Given the description of an element on the screen output the (x, y) to click on. 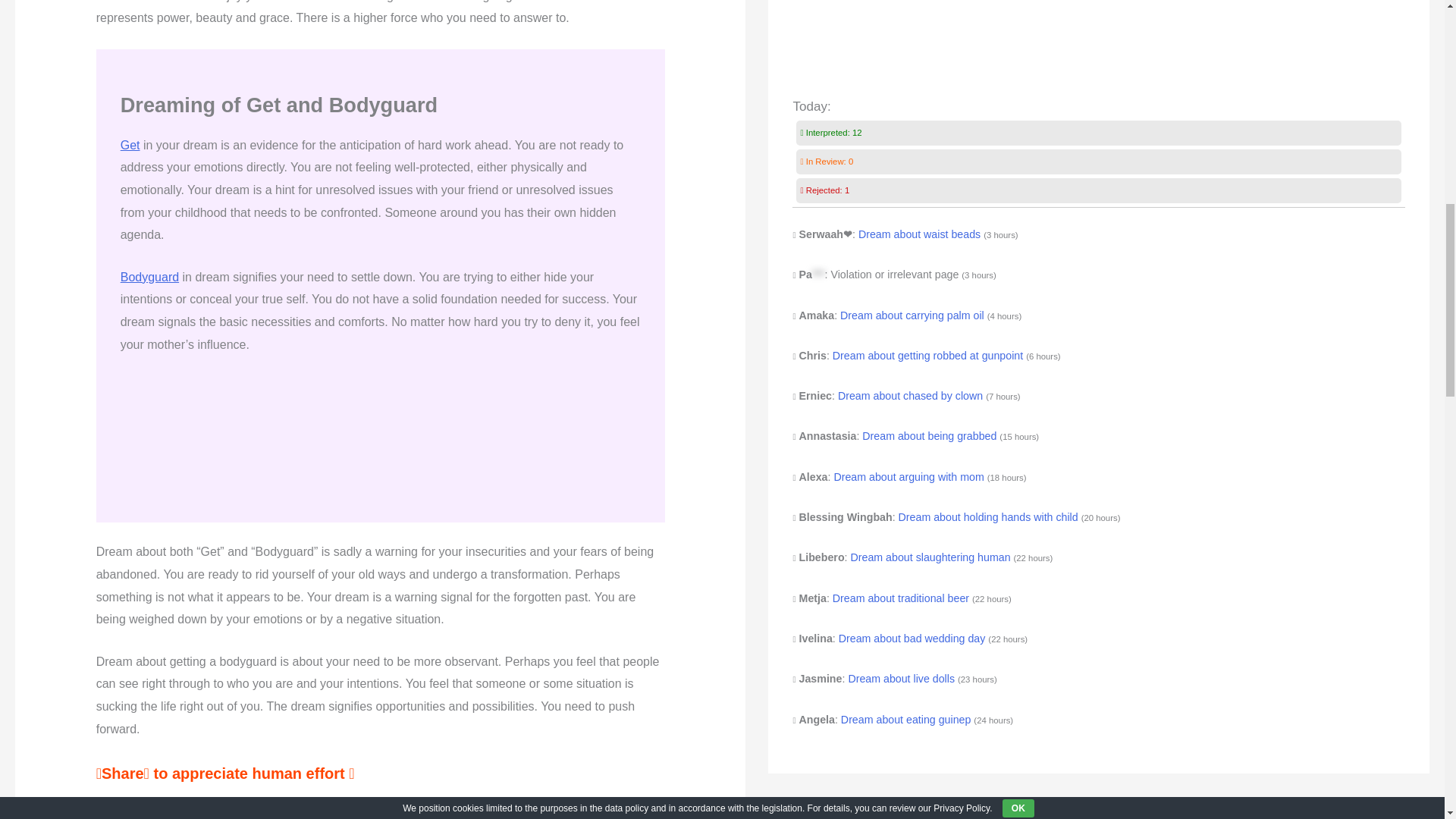
Email (111, 809)
Dream about being grabbed (928, 435)
Facebook (141, 809)
Dream about getting robbed at gunpoint (927, 355)
Dream about waist beads (919, 234)
Telegram (201, 809)
Telegram (201, 809)
Dream about traditional beer (900, 598)
Share (262, 809)
WhatsApp (231, 809)
